Given the description of an element on the screen output the (x, y) to click on. 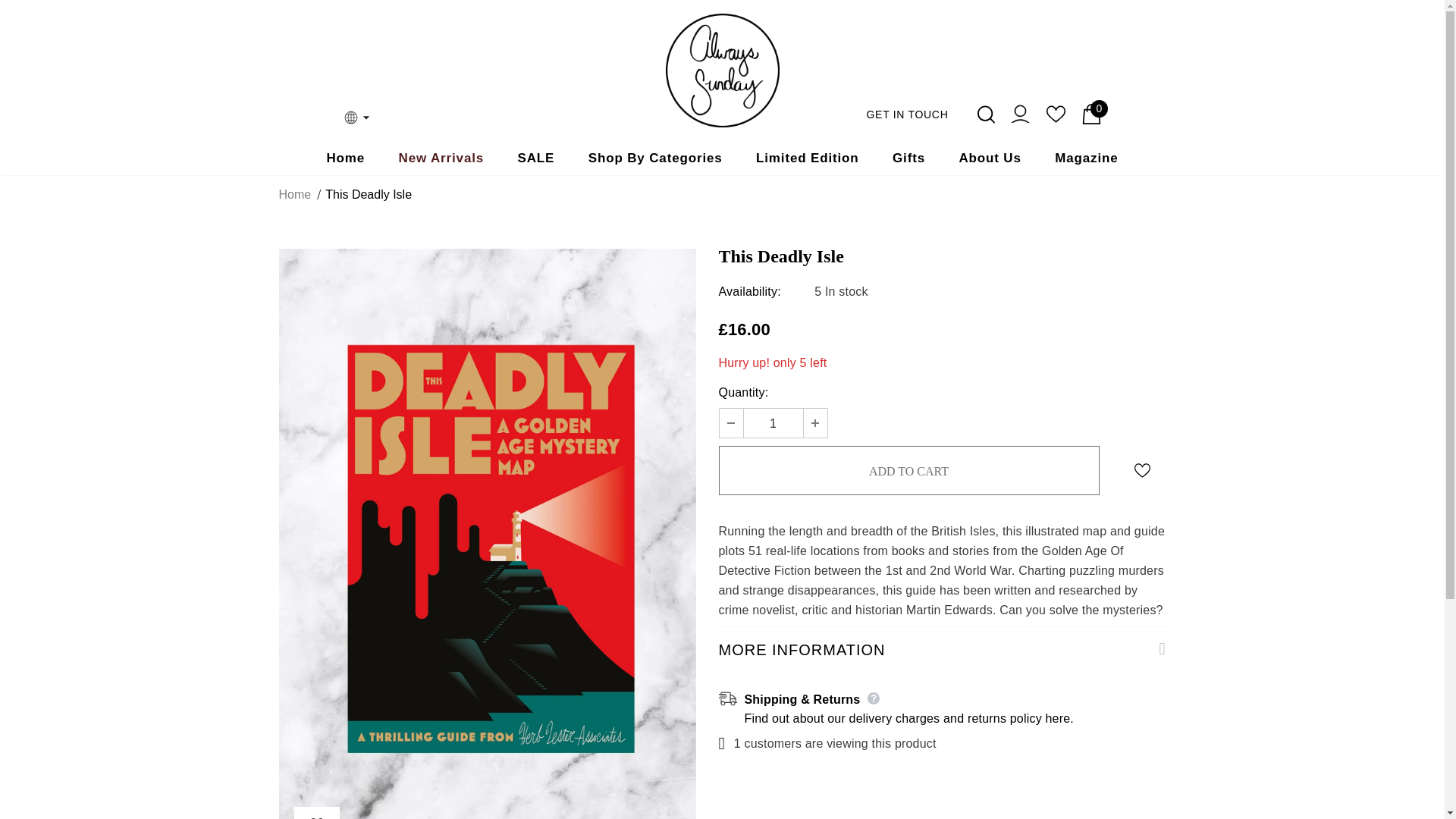
1 (772, 422)
Magazine (1086, 157)
About Us (989, 157)
Add to cart (909, 470)
0 (1091, 114)
GET IN TOUCH (907, 113)
Home (295, 194)
Home (345, 157)
Logo (721, 70)
Limited Edition (807, 157)
